Given the description of an element on the screen output the (x, y) to click on. 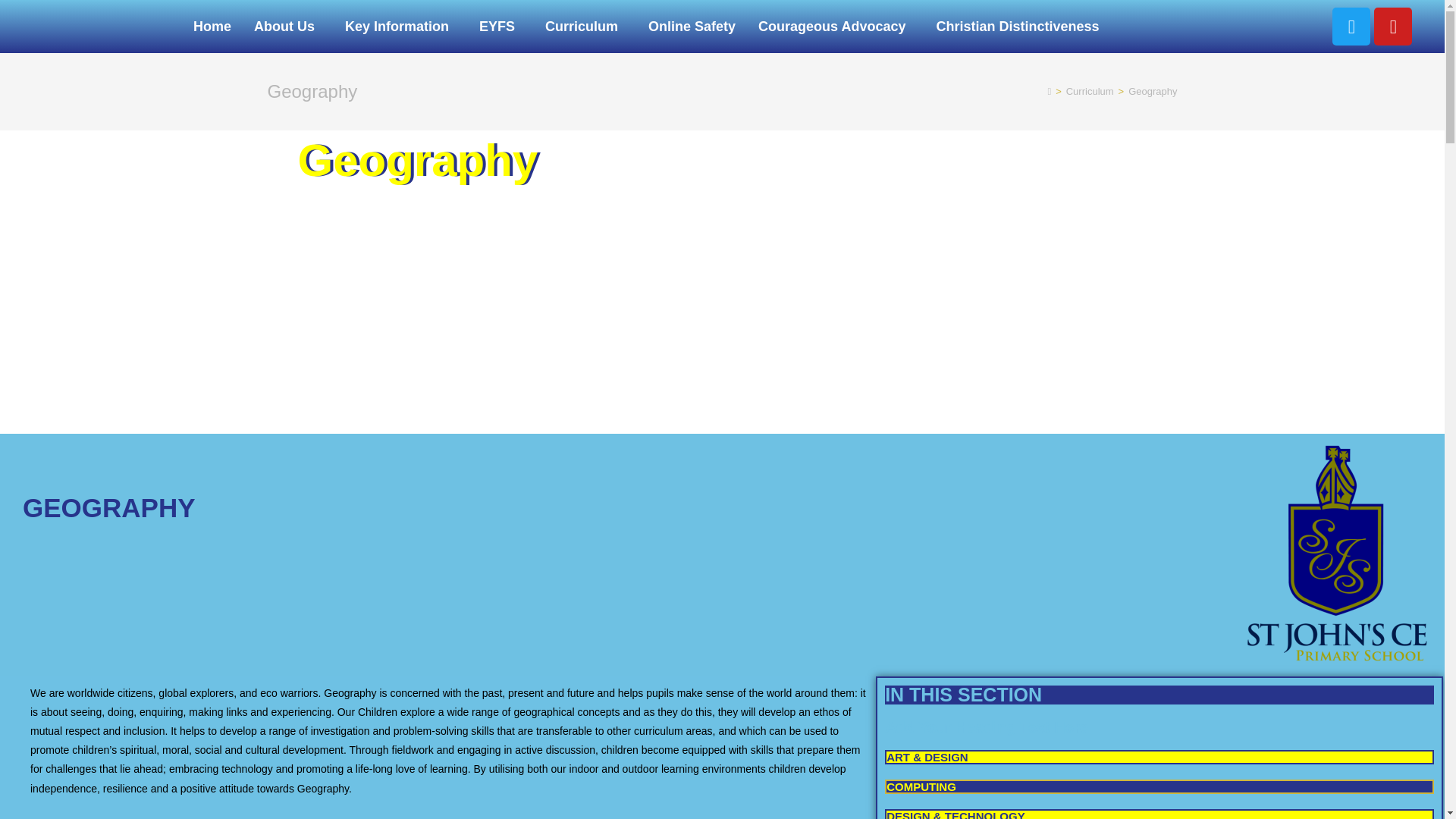
Key Information (400, 26)
Home (212, 26)
About Us (288, 26)
